Given the description of an element on the screen output the (x, y) to click on. 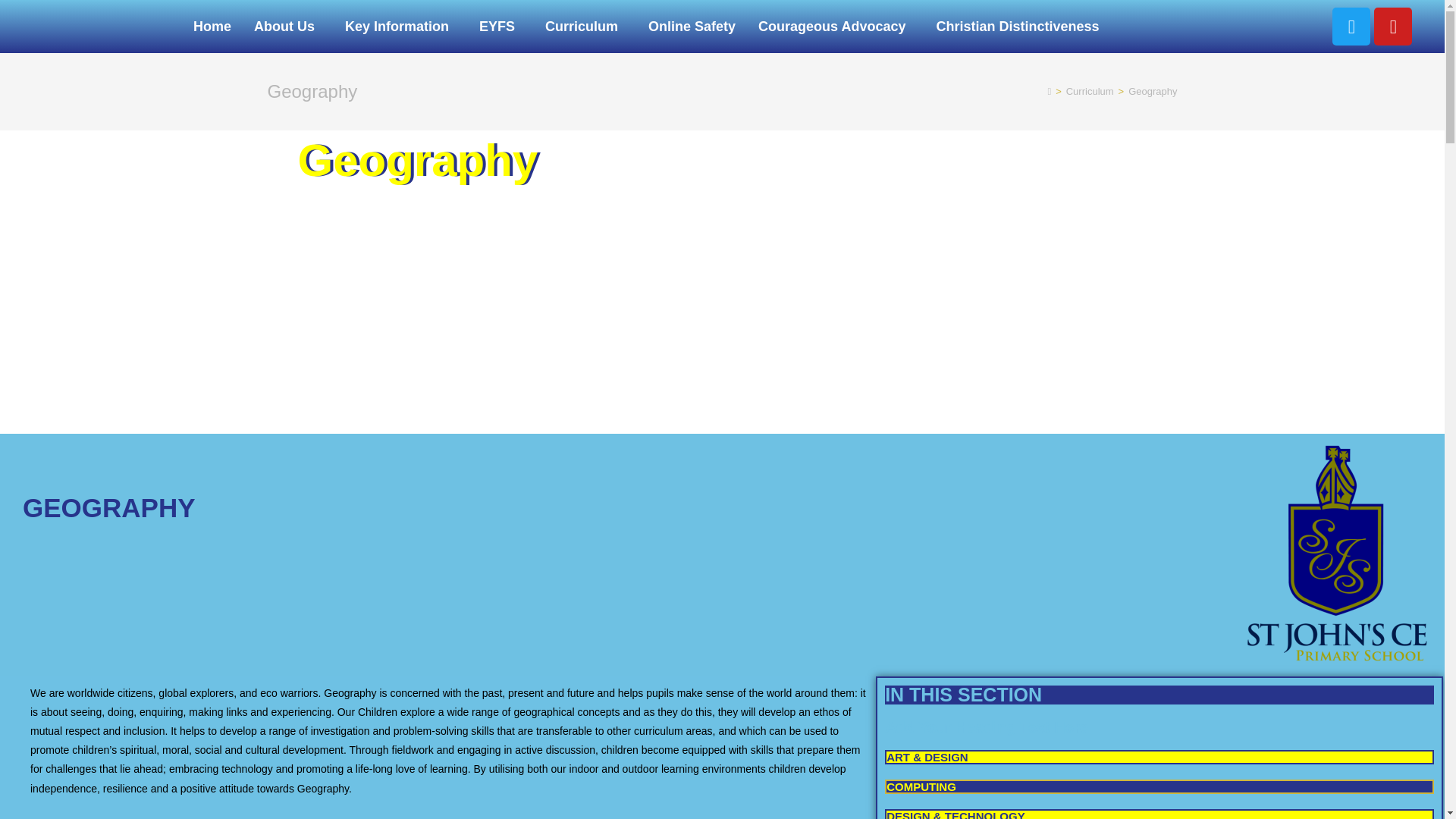
Key Information (400, 26)
Home (212, 26)
About Us (288, 26)
